Given the description of an element on the screen output the (x, y) to click on. 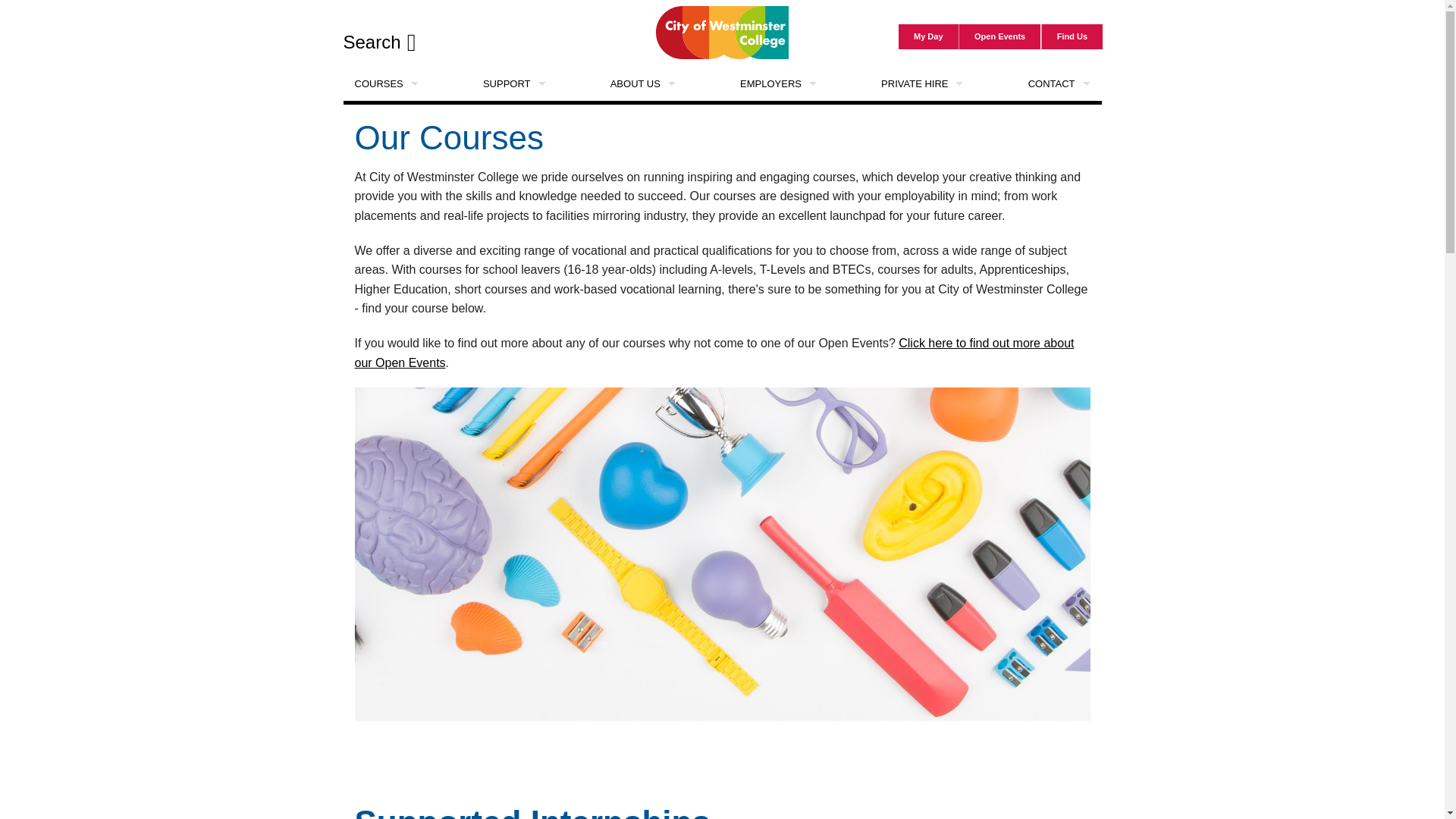
My Day (928, 36)
MUSIC (721, 390)
BUSINESS AND ACCOUNTING (465, 322)
ENGINEERING (465, 458)
COMPUTING AND ICT (465, 356)
ACCESS TO H.E. DIPLOMA (465, 117)
BACK TO WORK (465, 254)
APPRENTICESHIPS (465, 185)
PUBLIC SERVICES (721, 458)
A LEVELS (465, 151)
